Given the description of an element on the screen output the (x, y) to click on. 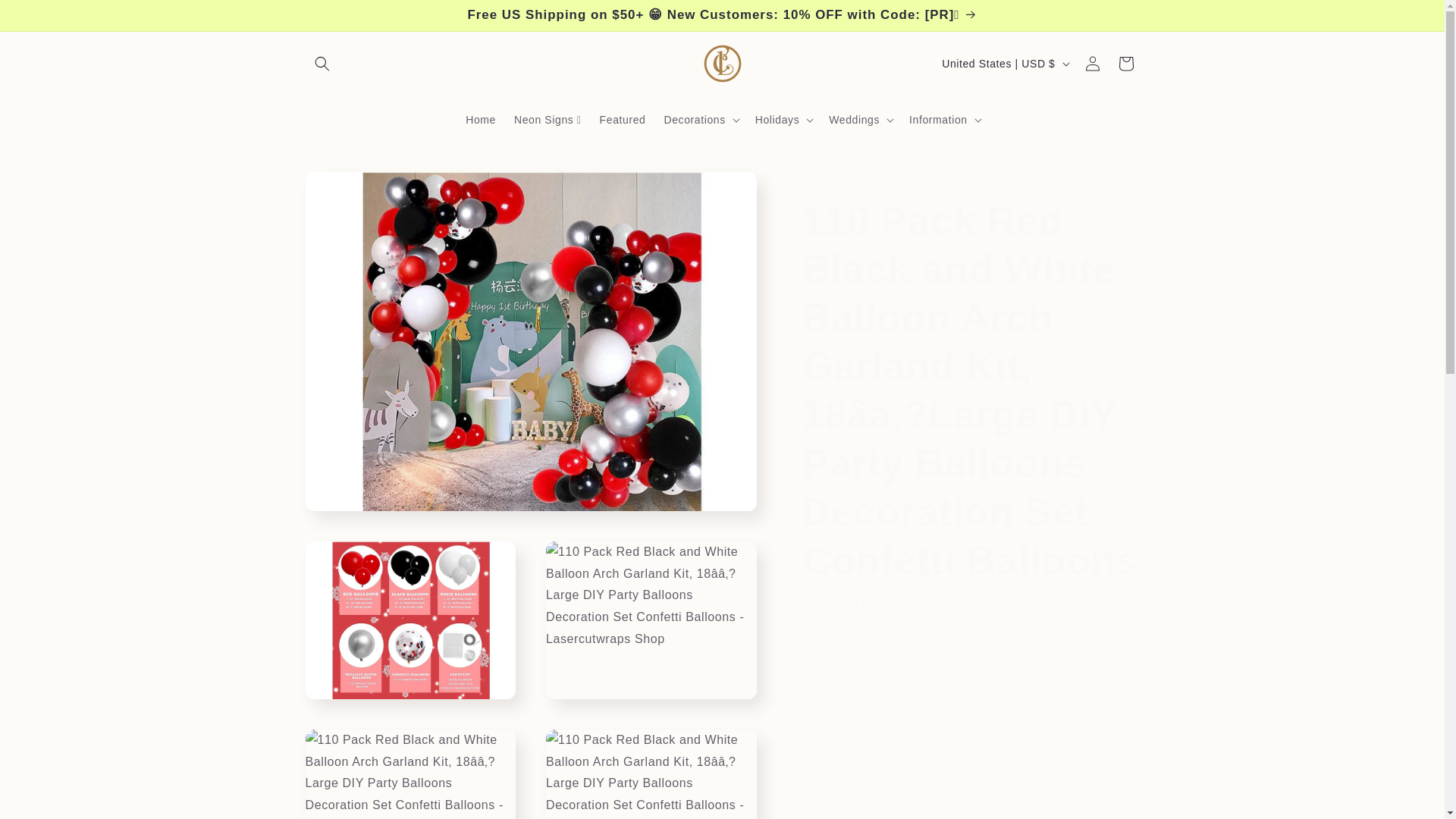
Open media 5 in modal (651, 774)
Open media 2 in modal (409, 620)
Skip to content (45, 17)
1 (856, 684)
Open media 3 in modal (651, 620)
Open media 4 in modal (409, 774)
